Given the description of an element on the screen output the (x, y) to click on. 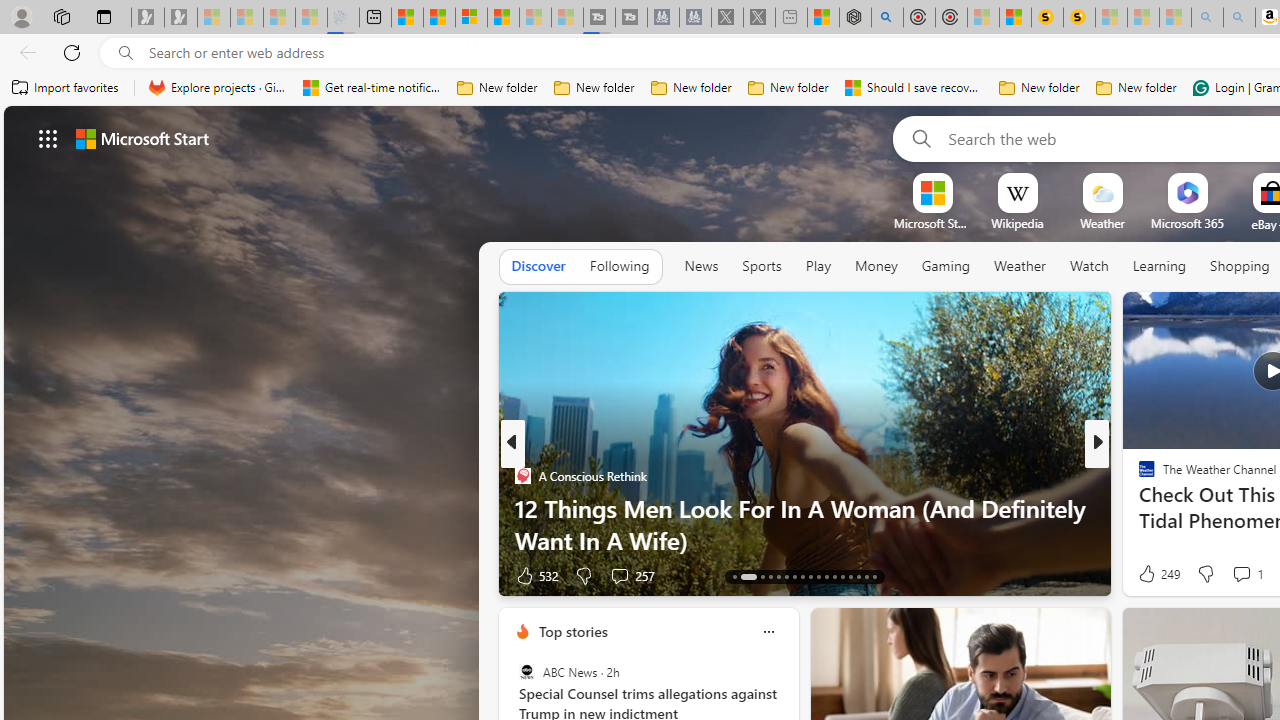
AutomationID: tab-23 (825, 576)
AutomationID: tab-26 (850, 576)
30 Like (1149, 574)
Sports (761, 267)
View comments 192 Comment (1247, 574)
View comments 257 Comment (632, 574)
Gaming (945, 267)
Play (817, 265)
